Given the description of an element on the screen output the (x, y) to click on. 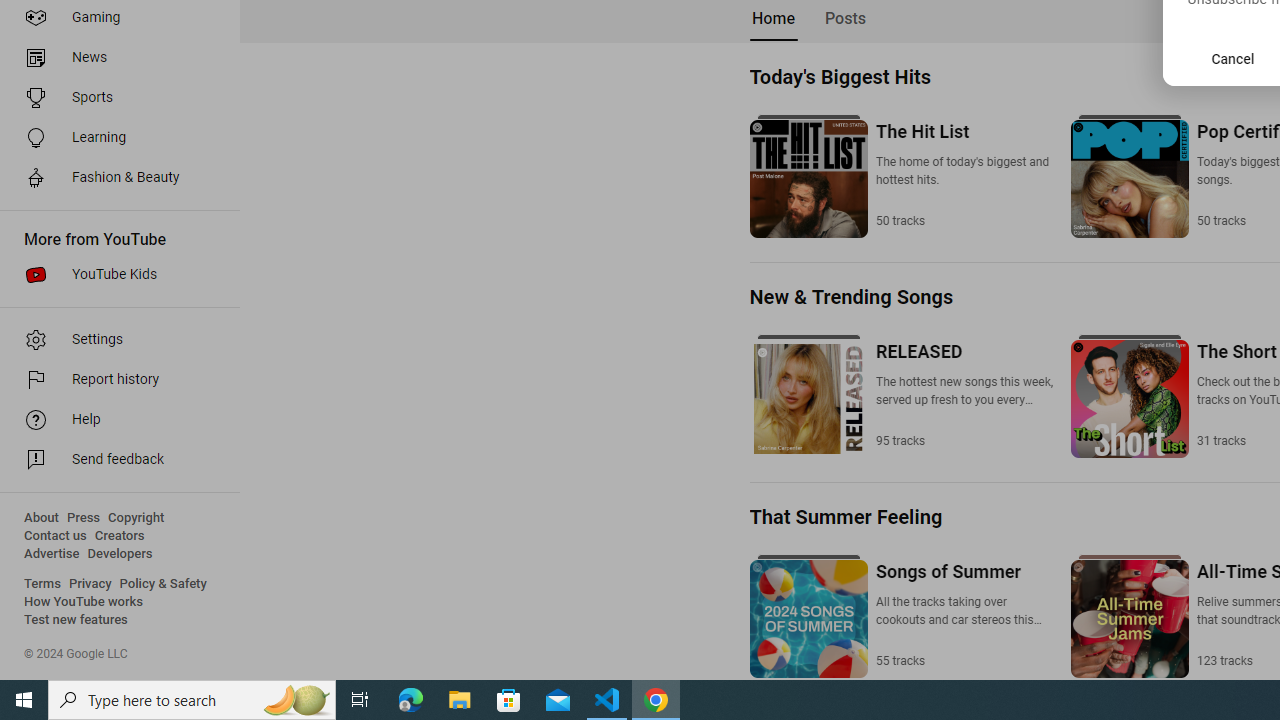
Copyright (136, 518)
Policy & Safety (163, 584)
Sports (113, 97)
Creators (118, 536)
Contact us (55, 536)
Fashion & Beauty (113, 177)
Advertise (51, 554)
How YouTube works (83, 602)
Test new features (76, 620)
That Summer Feeling (845, 517)
Developers (120, 554)
Send feedback (113, 459)
News (113, 57)
YouTube Kids (113, 274)
